Given the description of an element on the screen output the (x, y) to click on. 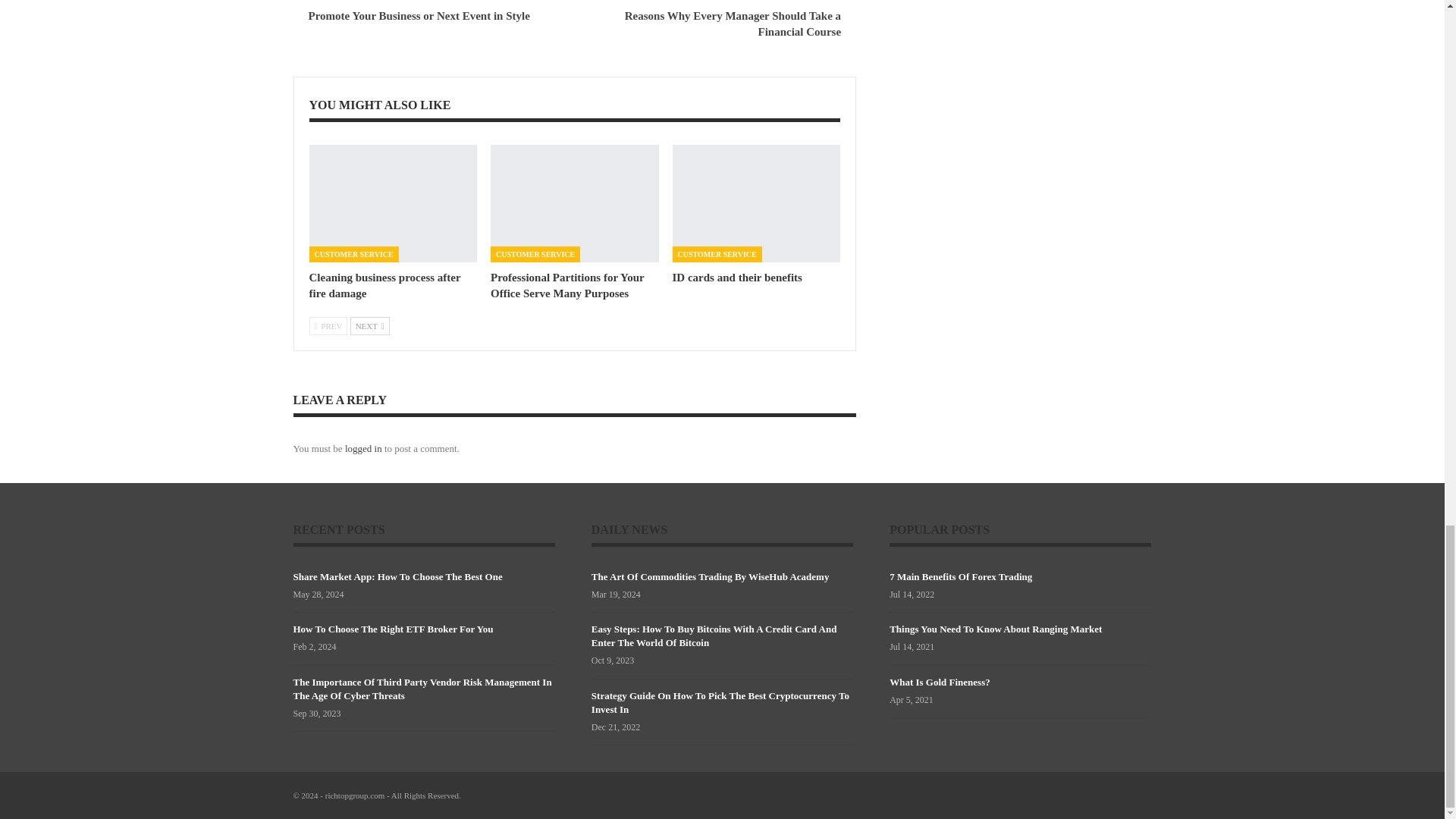
Cleaning business process after fire damage (384, 285)
CUSTOMER SERVICE (716, 254)
ID cards and their benefits (737, 277)
Professional Partitions for Your Office Serve Many Purposes (566, 285)
Professional Partitions for Your Office Serve Many Purposes (574, 203)
ID cards and their benefits (737, 277)
YOU MIGHT ALSO LIKE (379, 104)
Cleaning business process after fire damage (392, 203)
Promote Your Business or Next Event in Style (418, 15)
CUSTOMER SERVICE (353, 254)
